Given the description of an element on the screen output the (x, y) to click on. 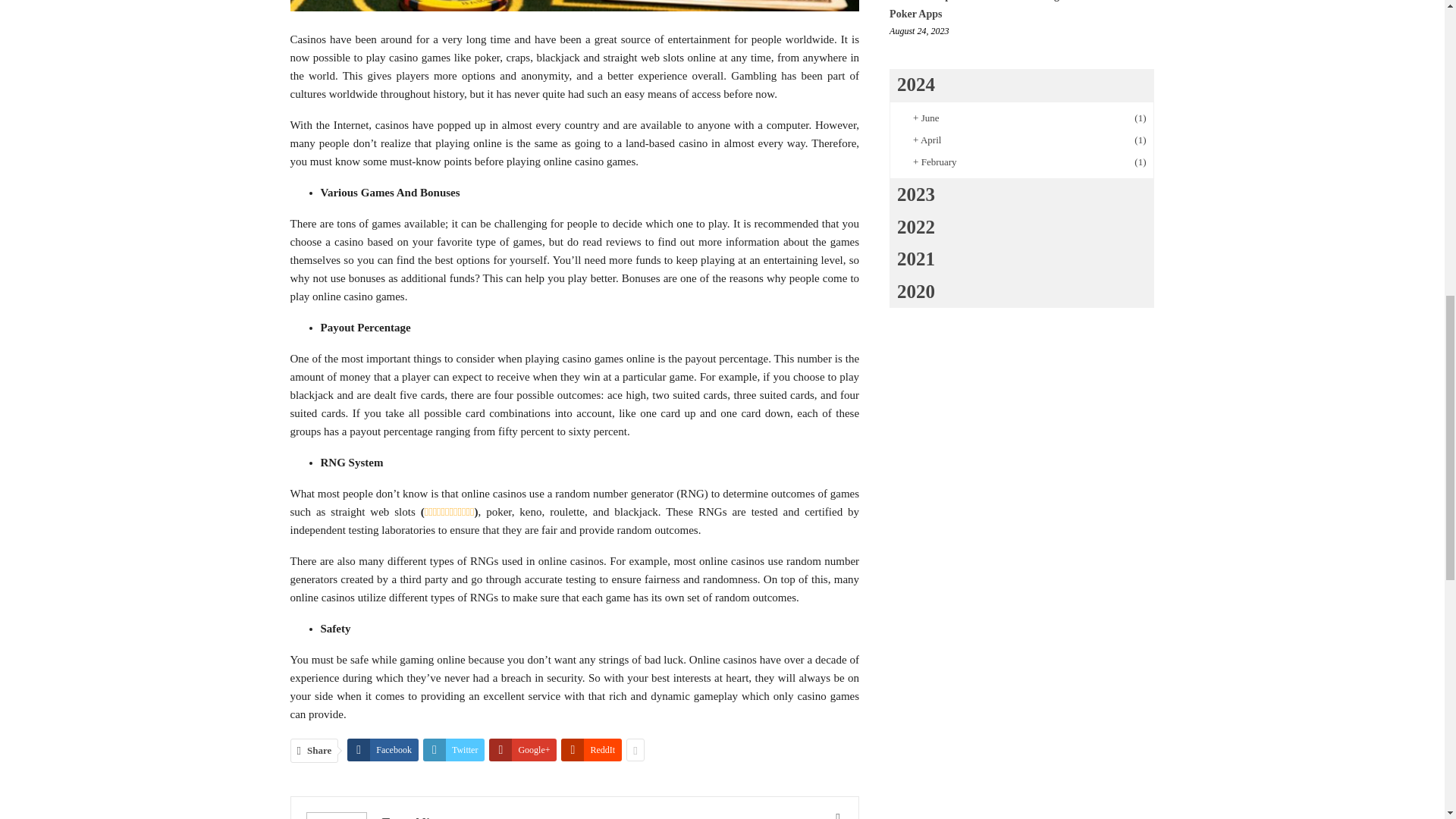
Facebook (383, 749)
ReddIt (590, 749)
Twitter (453, 749)
